Given the description of an element on the screen output the (x, y) to click on. 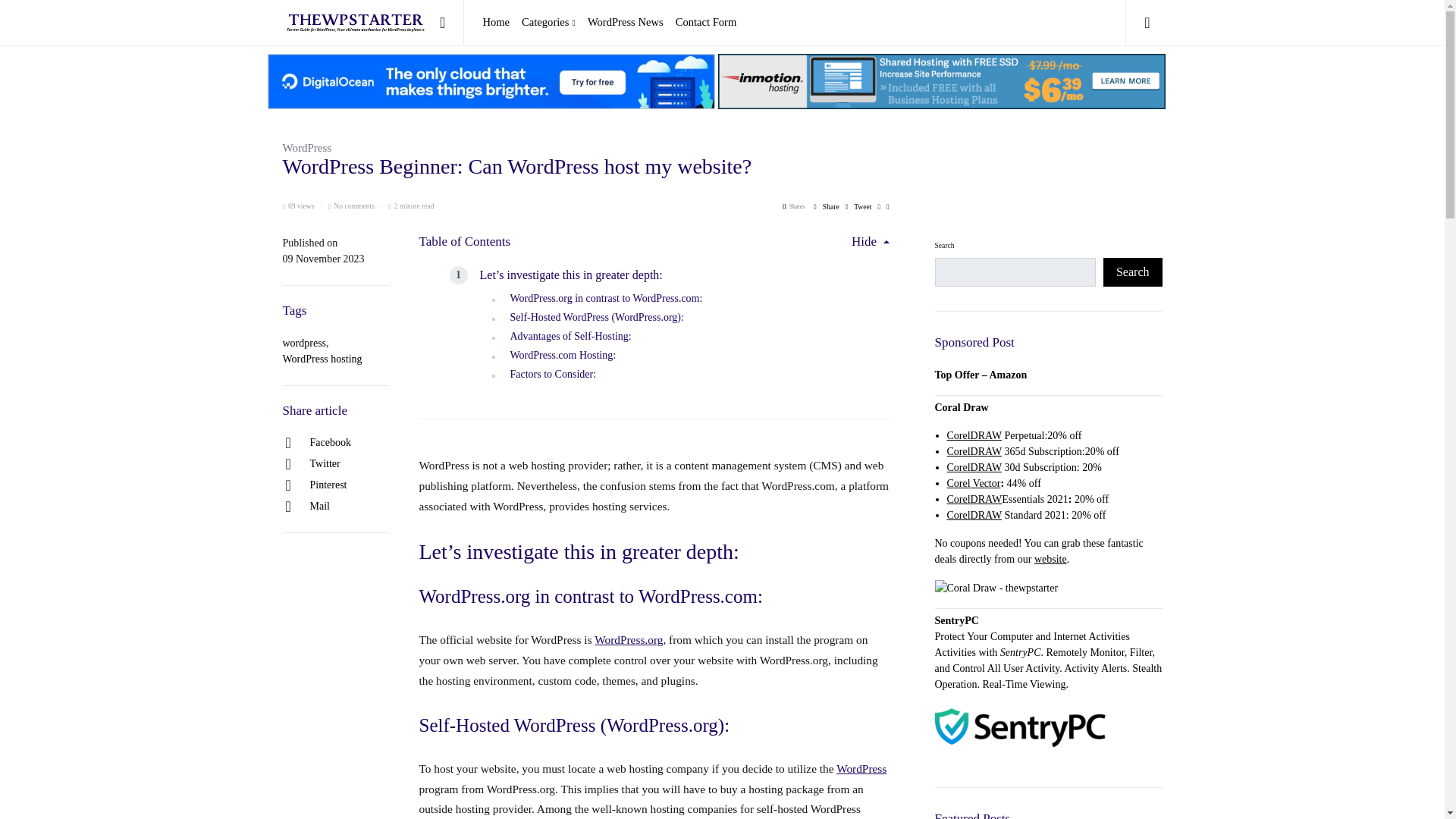
Home (498, 22)
WordPress News (624, 22)
Categories (547, 22)
